Given the description of an element on the screen output the (x, y) to click on. 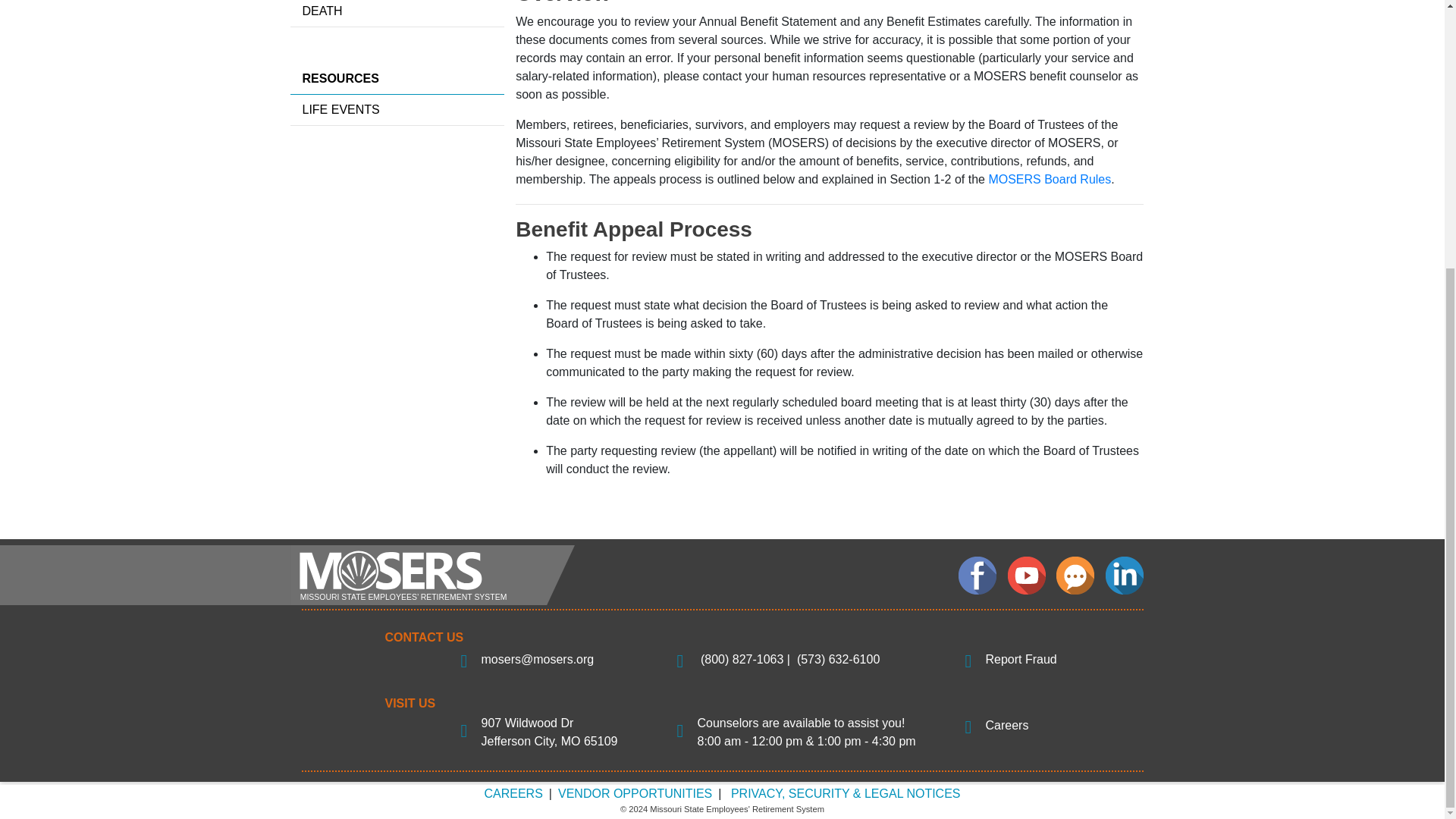
footer-logo (431, 575)
MOSERS Facebook (976, 575)
MOSERS Board Rules (1049, 178)
Rumor Central Blog (1075, 575)
footer-logo (431, 574)
MOSERS Linkedin (1123, 575)
MOSERS You-Tube (1026, 575)
